Given the description of an element on the screen output the (x, y) to click on. 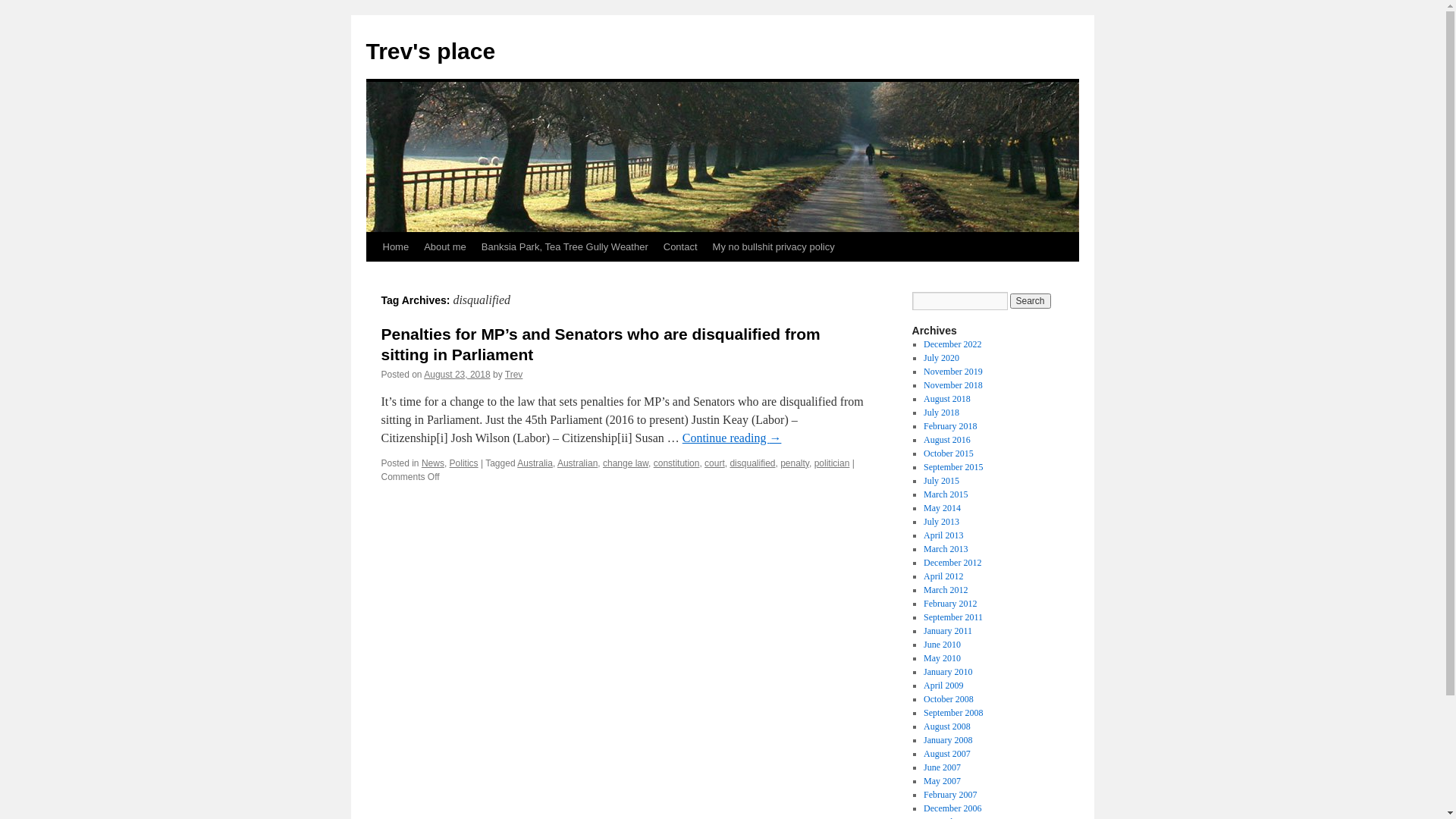
politician Element type: text (832, 463)
May 2014 Element type: text (941, 507)
January 2010 Element type: text (947, 671)
January 2008 Element type: text (947, 739)
July 2013 Element type: text (941, 521)
court Element type: text (714, 463)
Trev Element type: text (514, 374)
April 2013 Element type: text (943, 535)
April 2012 Element type: text (943, 576)
March 2012 Element type: text (945, 589)
December 2022 Element type: text (952, 343)
Australian Element type: text (577, 463)
Home Element type: text (395, 246)
Contact Element type: text (680, 246)
October 2015 Element type: text (948, 453)
October 2008 Element type: text (948, 698)
January 2011 Element type: text (947, 630)
September 2011 Element type: text (952, 616)
December 2012 Element type: text (952, 562)
August 2007 Element type: text (946, 753)
June 2010 Element type: text (941, 644)
July 2020 Element type: text (941, 357)
July 2018 Element type: text (941, 412)
May 2010 Element type: text (941, 657)
August 2016 Element type: text (946, 439)
September 2015 Element type: text (952, 466)
penalty Element type: text (794, 463)
August 2018 Element type: text (946, 398)
About me Element type: text (444, 246)
September 2008 Element type: text (952, 712)
February 2018 Element type: text (949, 425)
May 2007 Element type: text (941, 780)
March 2013 Element type: text (945, 548)
February 2012 Element type: text (949, 603)
March 2015 Element type: text (945, 494)
July 2015 Element type: text (941, 480)
August 23, 2018 Element type: text (456, 374)
April 2009 Element type: text (943, 685)
Search Element type: text (1030, 300)
change law Element type: text (625, 463)
News Element type: text (432, 463)
constitution Element type: text (676, 463)
My no bullshit privacy policy Element type: text (773, 246)
December 2006 Element type: text (952, 808)
February 2007 Element type: text (949, 794)
Banksia Park, Tea Tree Gully Weather Element type: text (564, 246)
Trev's place Element type: text (430, 50)
Australia Element type: text (534, 463)
November 2018 Element type: text (952, 384)
Politics Element type: text (463, 463)
June 2007 Element type: text (941, 767)
Skip to content Element type: text (372, 275)
November 2019 Element type: text (952, 371)
August 2008 Element type: text (946, 726)
disqualified Element type: text (752, 463)
